Given the description of an element on the screen output the (x, y) to click on. 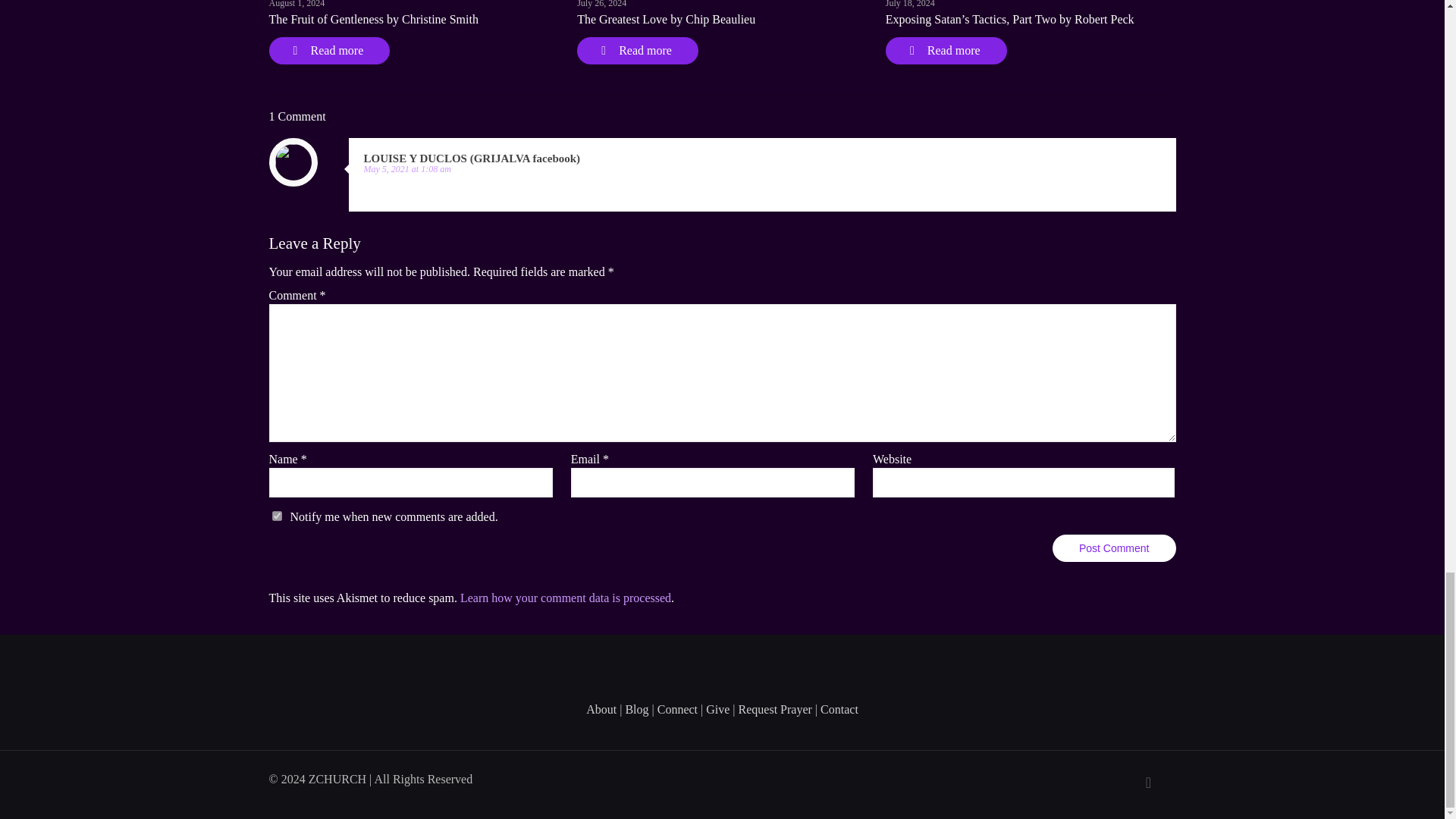
1 (275, 515)
Post Comment (1114, 547)
